Given the description of an element on the screen output the (x, y) to click on. 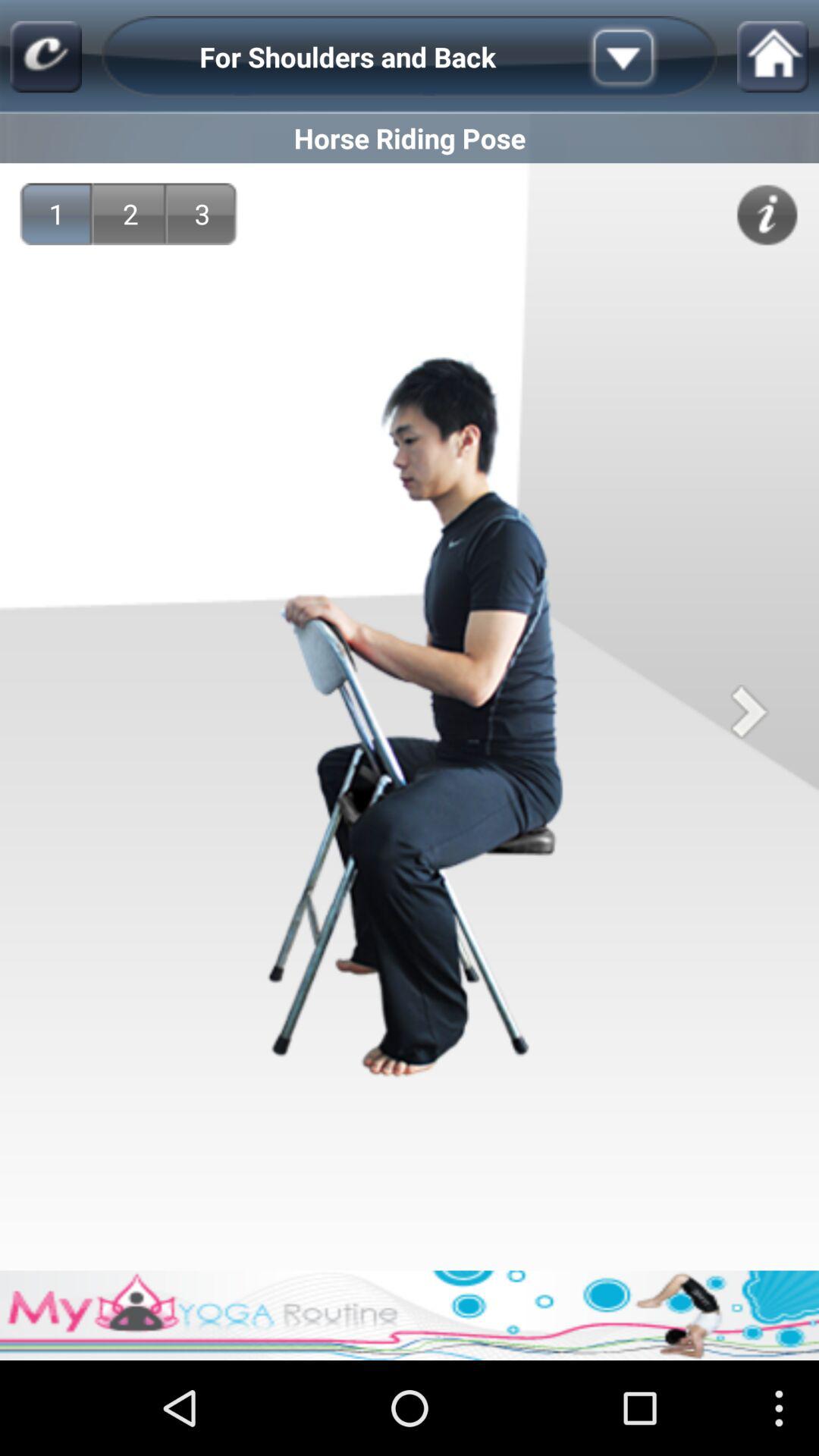
turn on the item next to the 3 item (130, 214)
